Given the description of an element on the screen output the (x, y) to click on. 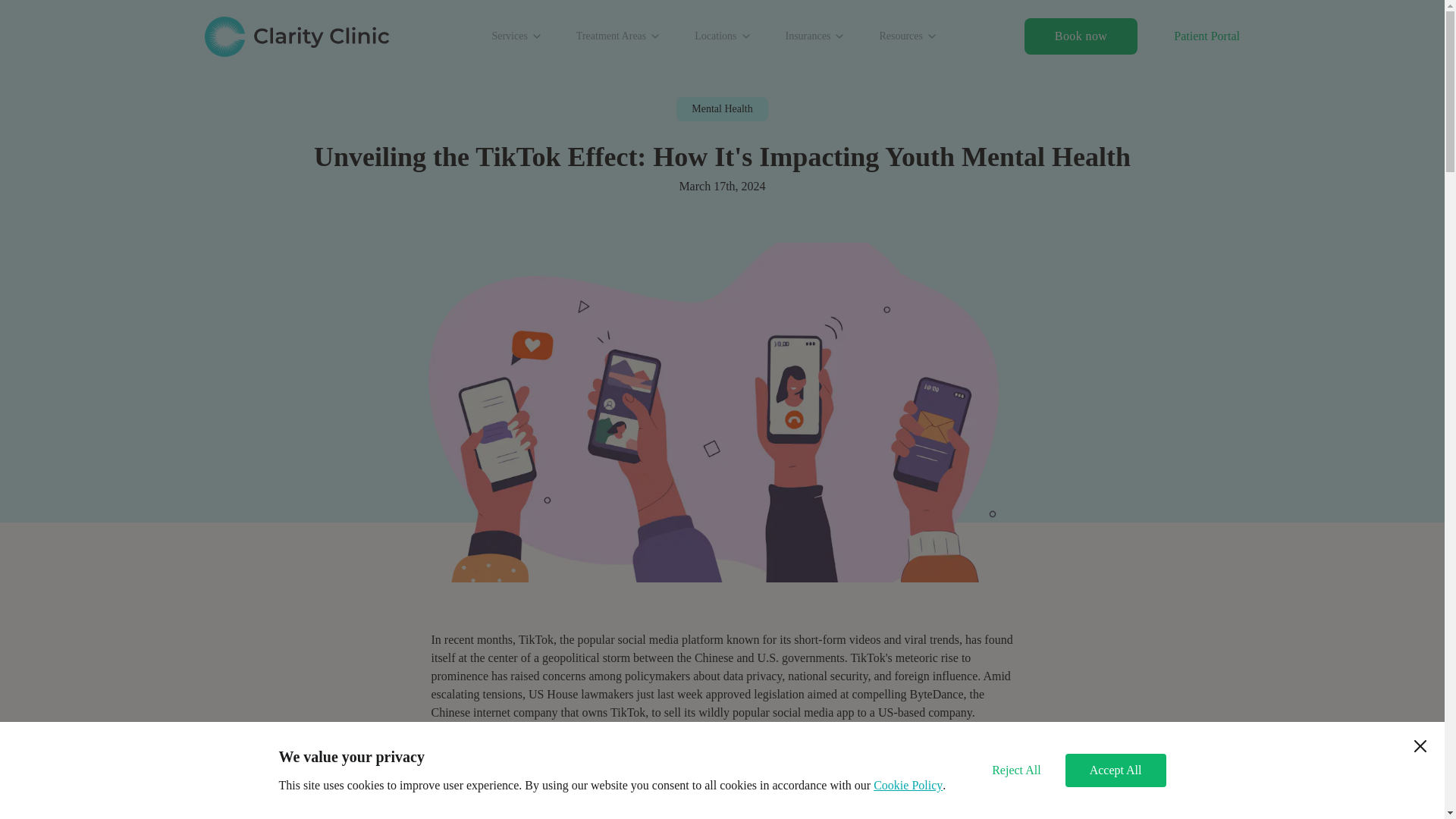
Resources (907, 36)
Insurances (815, 36)
Locations (722, 36)
Services (516, 36)
Treatment Areas (618, 36)
